Given the description of an element on the screen output the (x, y) to click on. 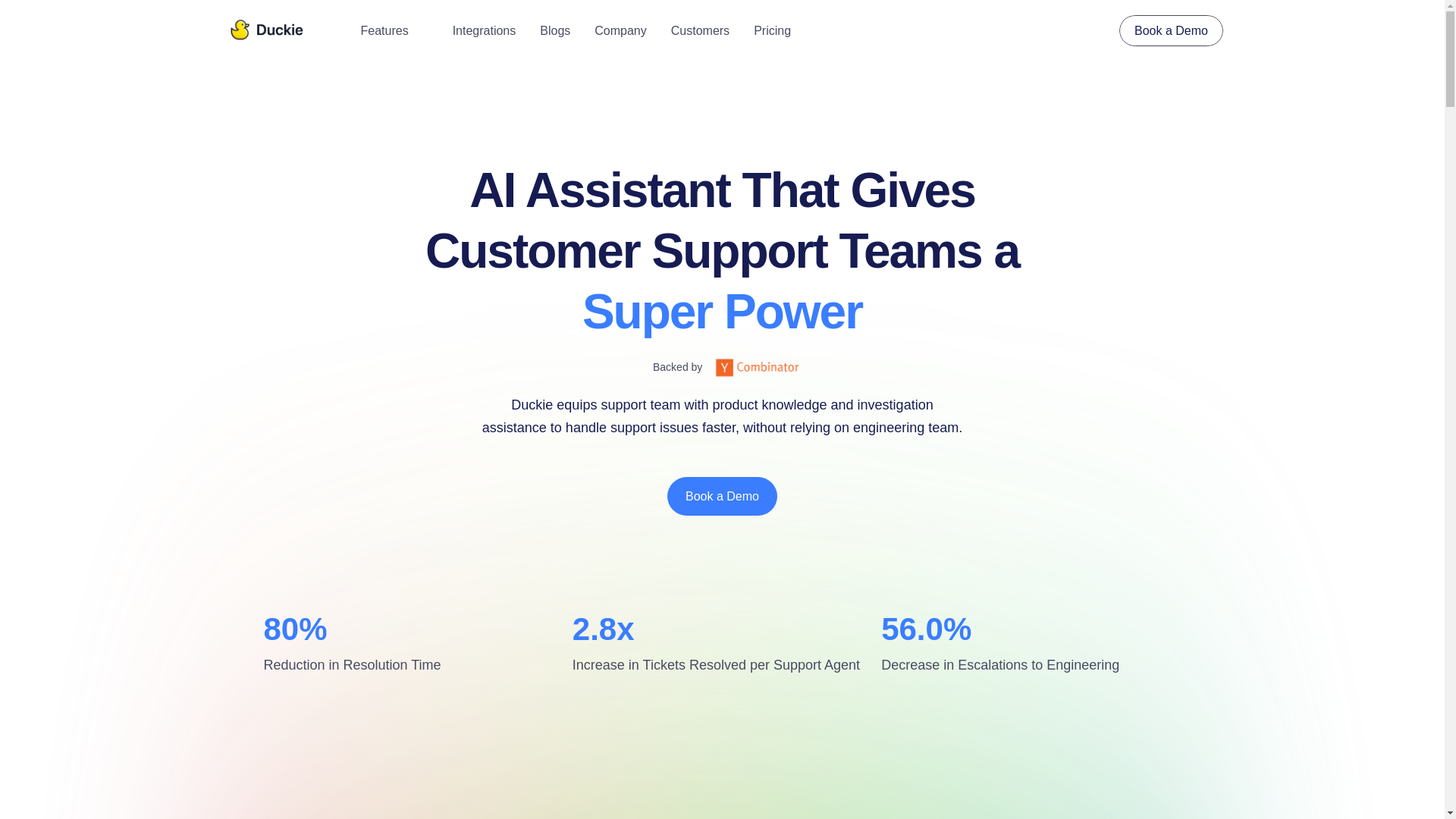
Integrations (484, 30)
Blogs (555, 30)
Company (620, 30)
Customers (700, 30)
Book a Demo (1171, 30)
Book a Demo (721, 495)
Pricing (772, 30)
Features (394, 30)
